Given the description of an element on the screen output the (x, y) to click on. 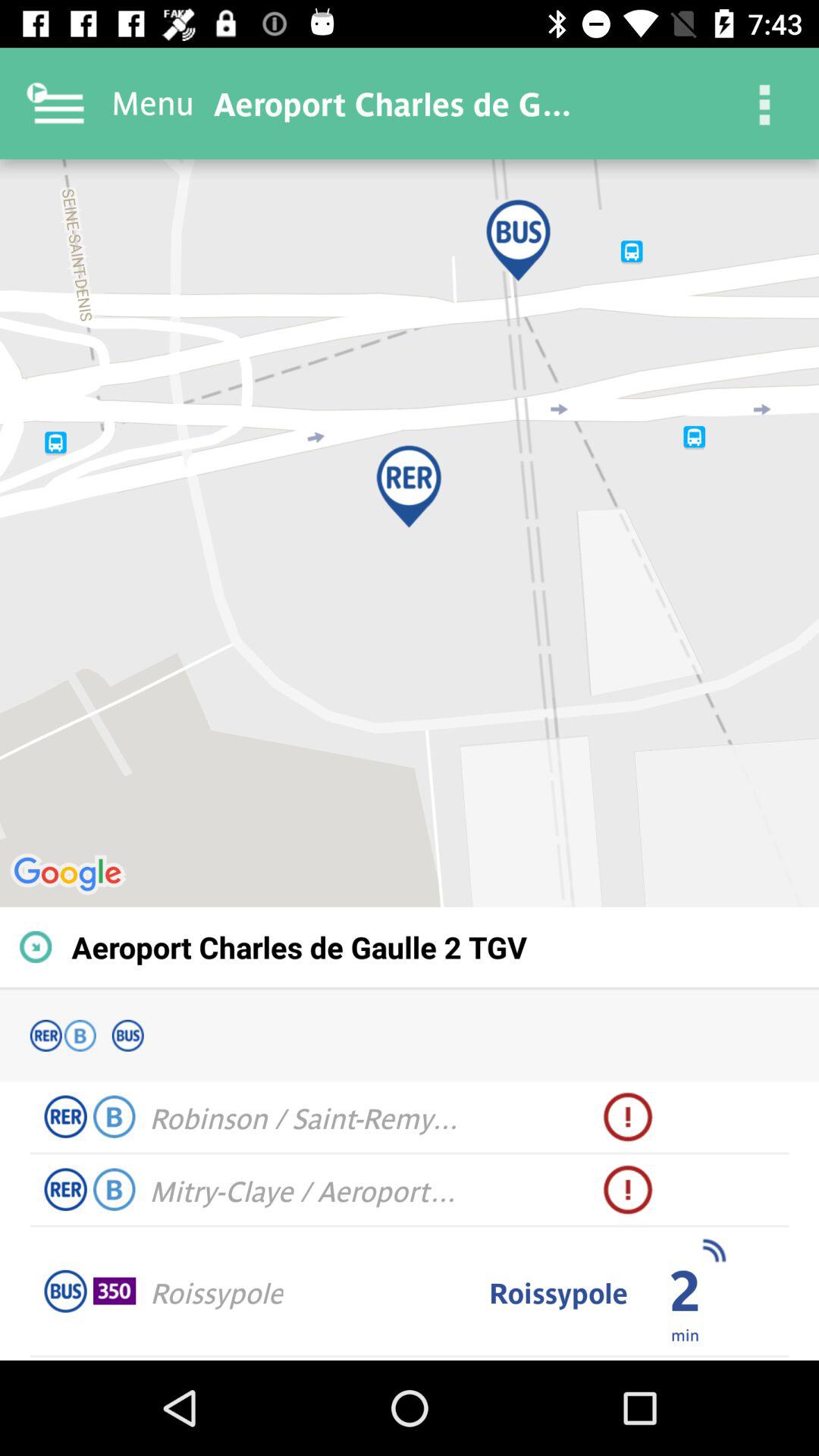
swipe until the min icon (684, 1334)
